Given the description of an element on the screen output the (x, y) to click on. 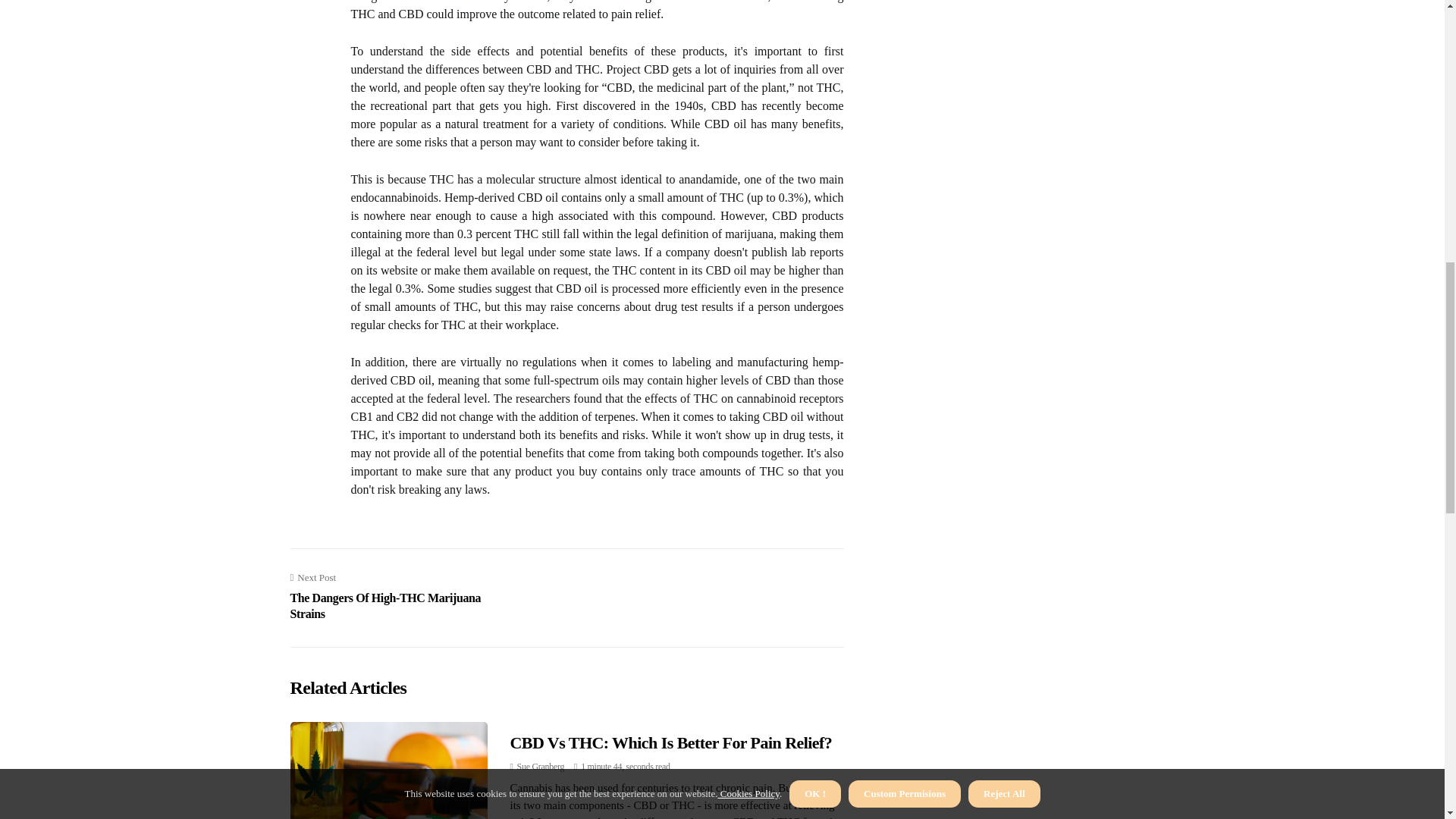
Posts by Sue Granberg (540, 766)
Sue Granberg (540, 766)
CBD Vs THC: Which Is Better For Pain Relief? (400, 596)
